Given the description of an element on the screen output the (x, y) to click on. 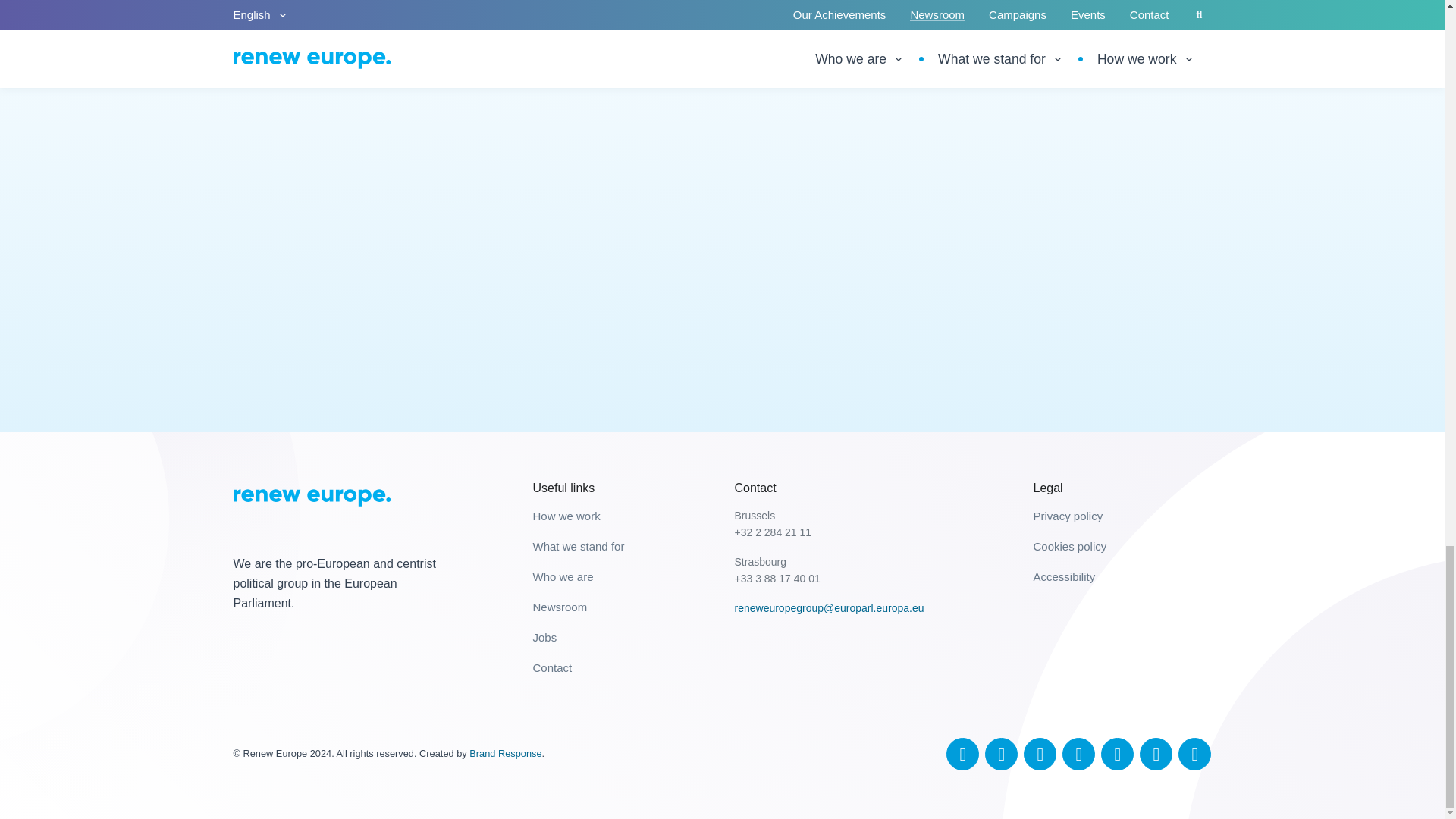
Renew Europe on YouTube (1078, 753)
Renew Europe on Twitter (962, 753)
Renew Europe on Facebook (1001, 753)
Renew Europe on Flickr (1117, 753)
Renew Europe on Spotify (1194, 753)
Renew Europe on Instagram (1156, 753)
Renew Europe on LinkedIn (1040, 753)
